Given the description of an element on the screen output the (x, y) to click on. 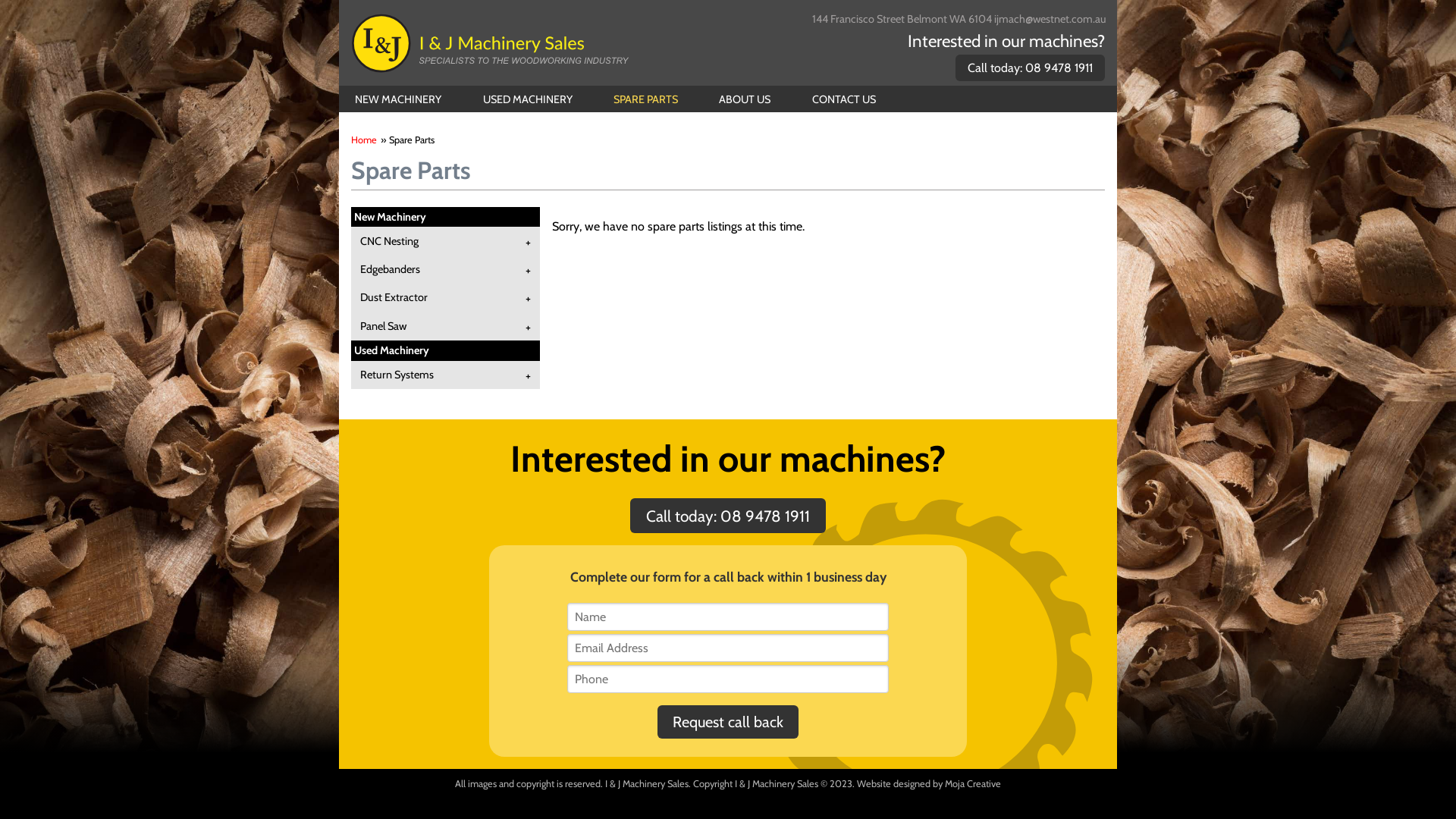
USED MACHINERY Element type: text (527, 98)
Request call back Element type: text (727, 721)
New Machinery Element type: text (390, 216)
ABOUT US Element type: text (744, 98)
I & J Machinery Sales Element type: text (490, 42)
Call today: 08 9478 1911 Element type: text (1029, 67)
SPARE PARTS Element type: text (644, 98)
Home Element type: text (363, 139)
NEW MACHINERY Element type: text (398, 98)
ijmach@westnet.com.au Element type: text (1050, 18)
Call today: 08 9478 1911 Element type: text (727, 515)
Used Machinery Element type: text (391, 350)
CONTACT US Element type: text (843, 98)
